Given the description of an element on the screen output the (x, y) to click on. 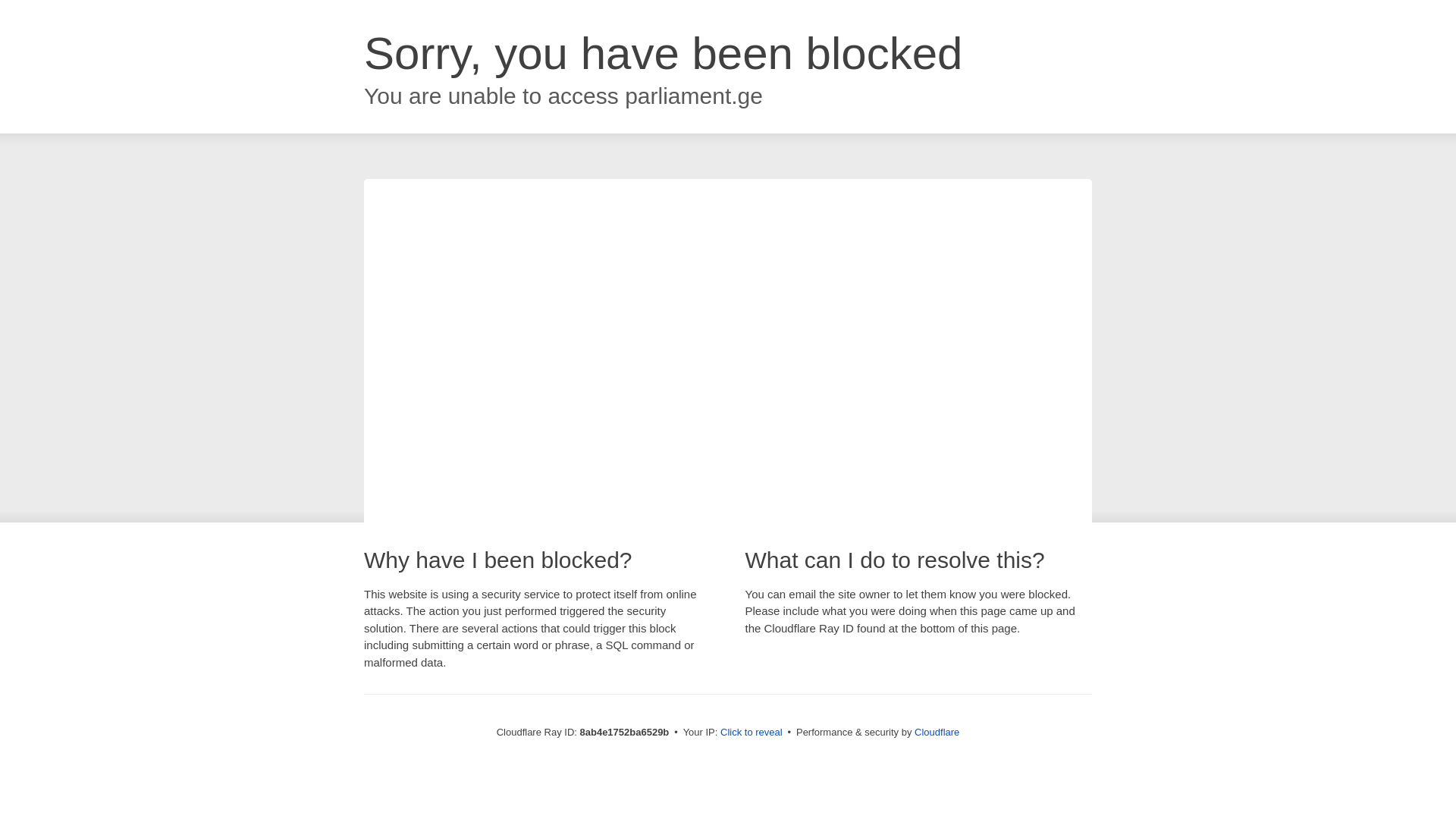
Click to reveal (751, 732)
Cloudflare (936, 731)
